Given the description of an element on the screen output the (x, y) to click on. 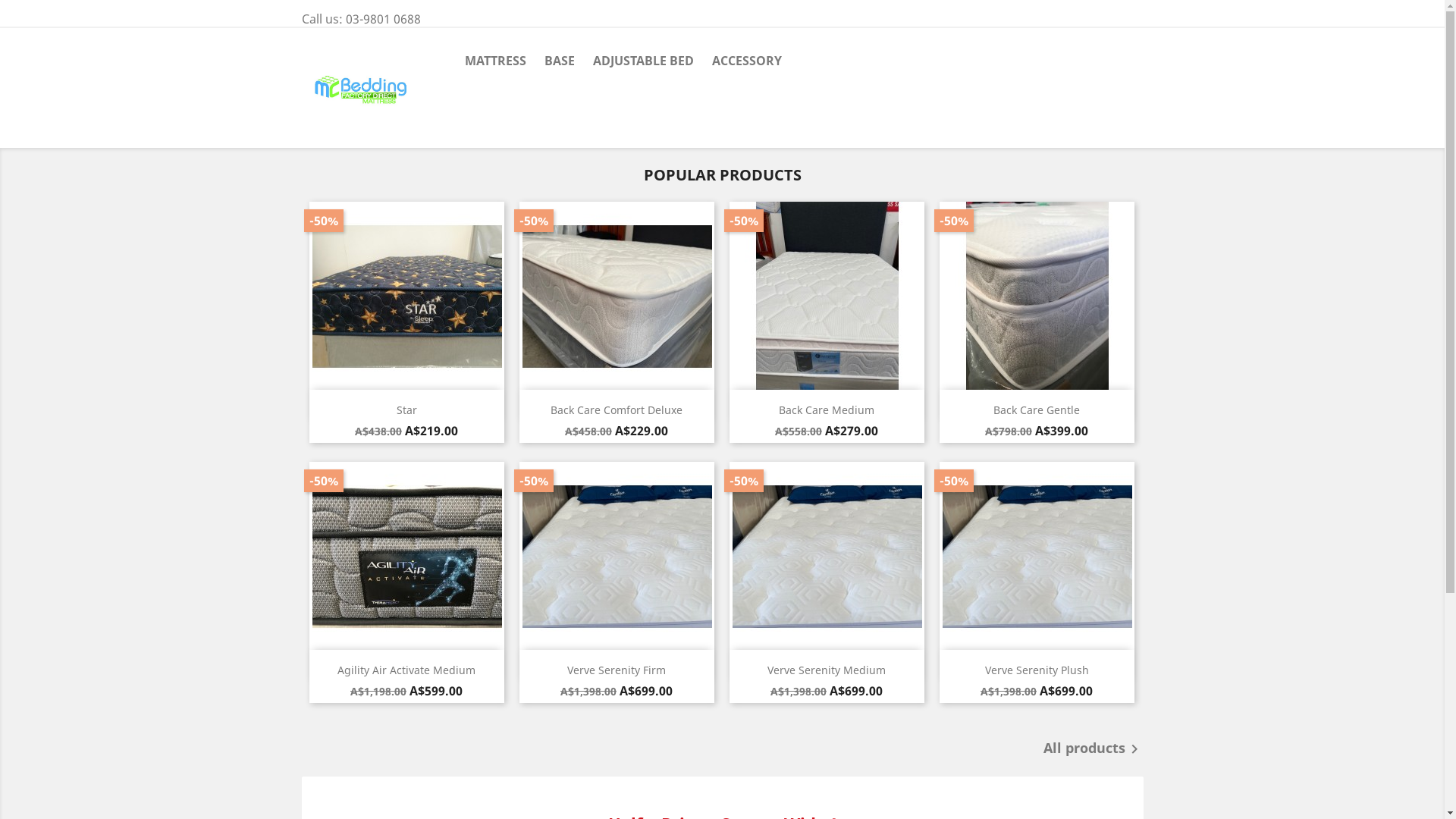
Back Care Medium Element type: text (826, 409)
ADJUSTABLE BED Element type: text (643, 61)
Back Care Gentle Element type: text (1036, 409)
Verve Serenity Medium Element type: text (826, 669)
BASE Element type: text (559, 61)
ACCESSORY Element type: text (745, 61)
MATTRESS Element type: text (494, 61)
Agility Air Activate Medium Element type: text (406, 669)
Star Element type: text (405, 409)
Verve Serenity Firm Element type: text (616, 669)
Back Care Comfort Deluxe Element type: text (616, 409)
Verve Serenity Plush Element type: text (1036, 669)
